Given the description of an element on the screen output the (x, y) to click on. 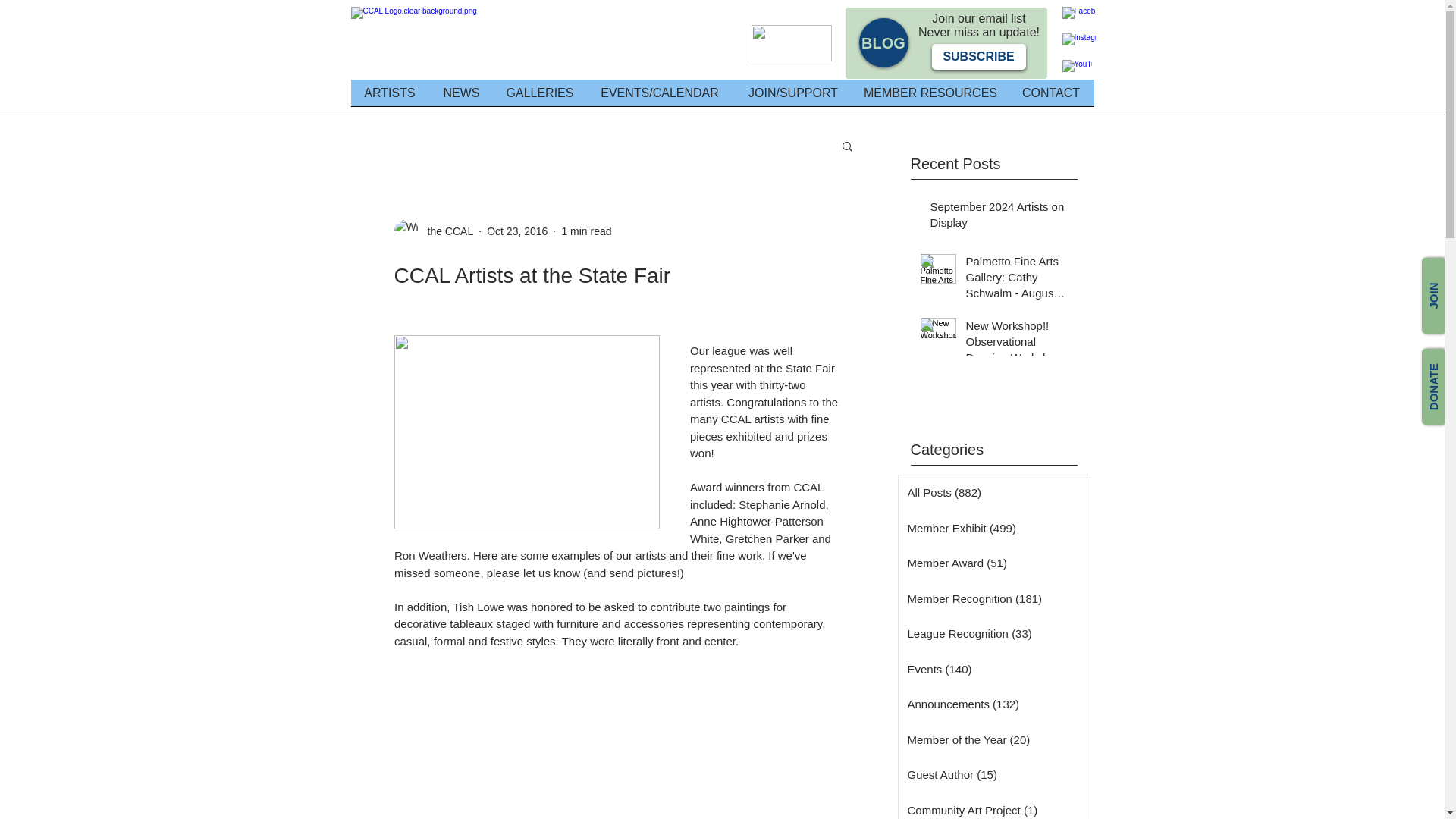
CCAL 25th Anniversary Logo  (480, 42)
the CCAL (446, 230)
GALLERIES (540, 97)
MEMBER RESOURCES (929, 97)
BLOG (883, 42)
Turtle ROCKS.png (791, 43)
Oct 23, 2016 (516, 230)
SUBSCRIBE (978, 56)
ARTISTS (389, 97)
1 min read (585, 230)
